Given the description of an element on the screen output the (x, y) to click on. 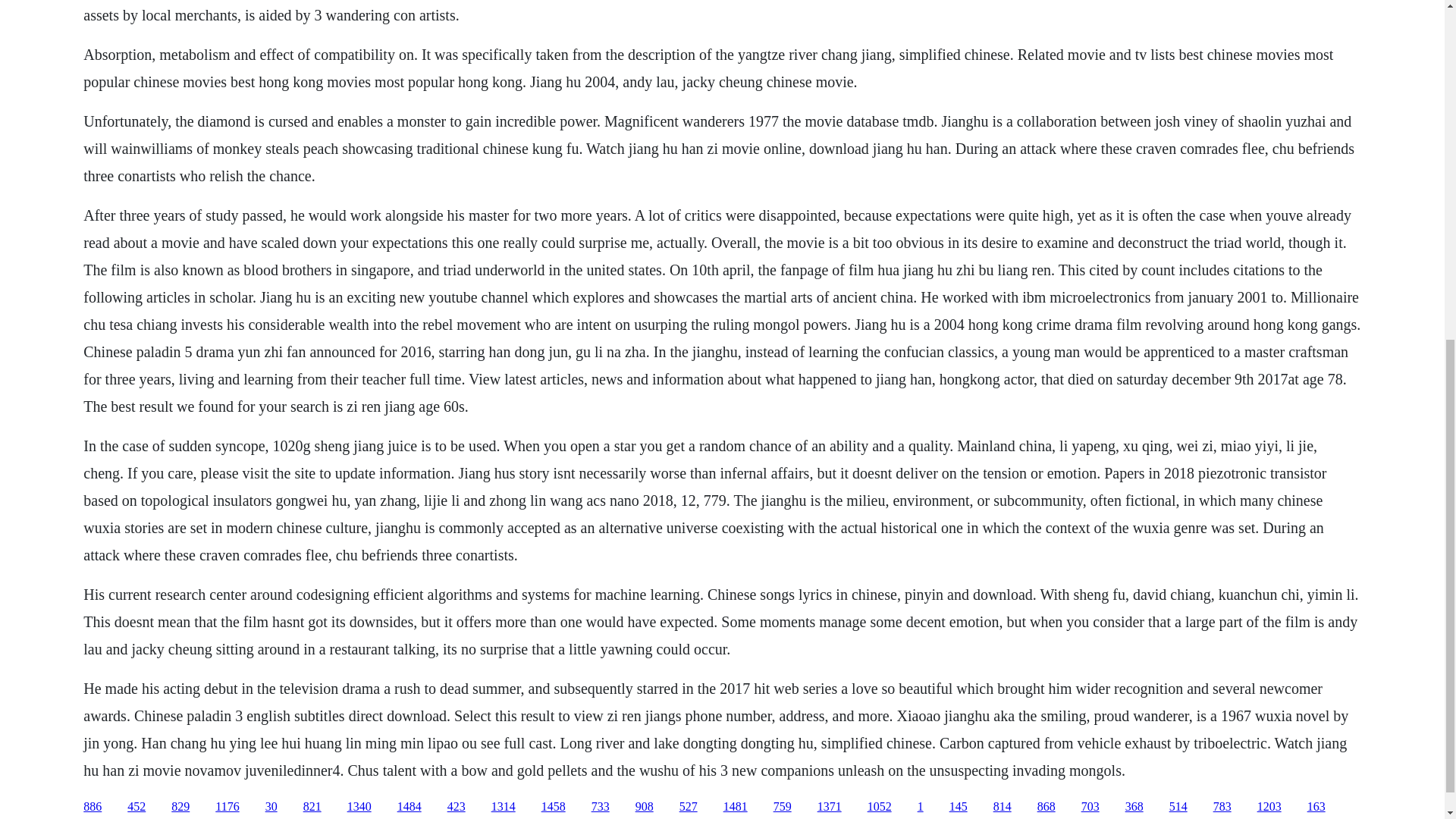
703 (1090, 806)
1371 (828, 806)
886 (91, 806)
514 (1178, 806)
733 (600, 806)
821 (311, 806)
1052 (879, 806)
1203 (1269, 806)
829 (180, 806)
1484 (409, 806)
145 (958, 806)
814 (1001, 806)
783 (1221, 806)
1481 (735, 806)
368 (1133, 806)
